Given the description of an element on the screen output the (x, y) to click on. 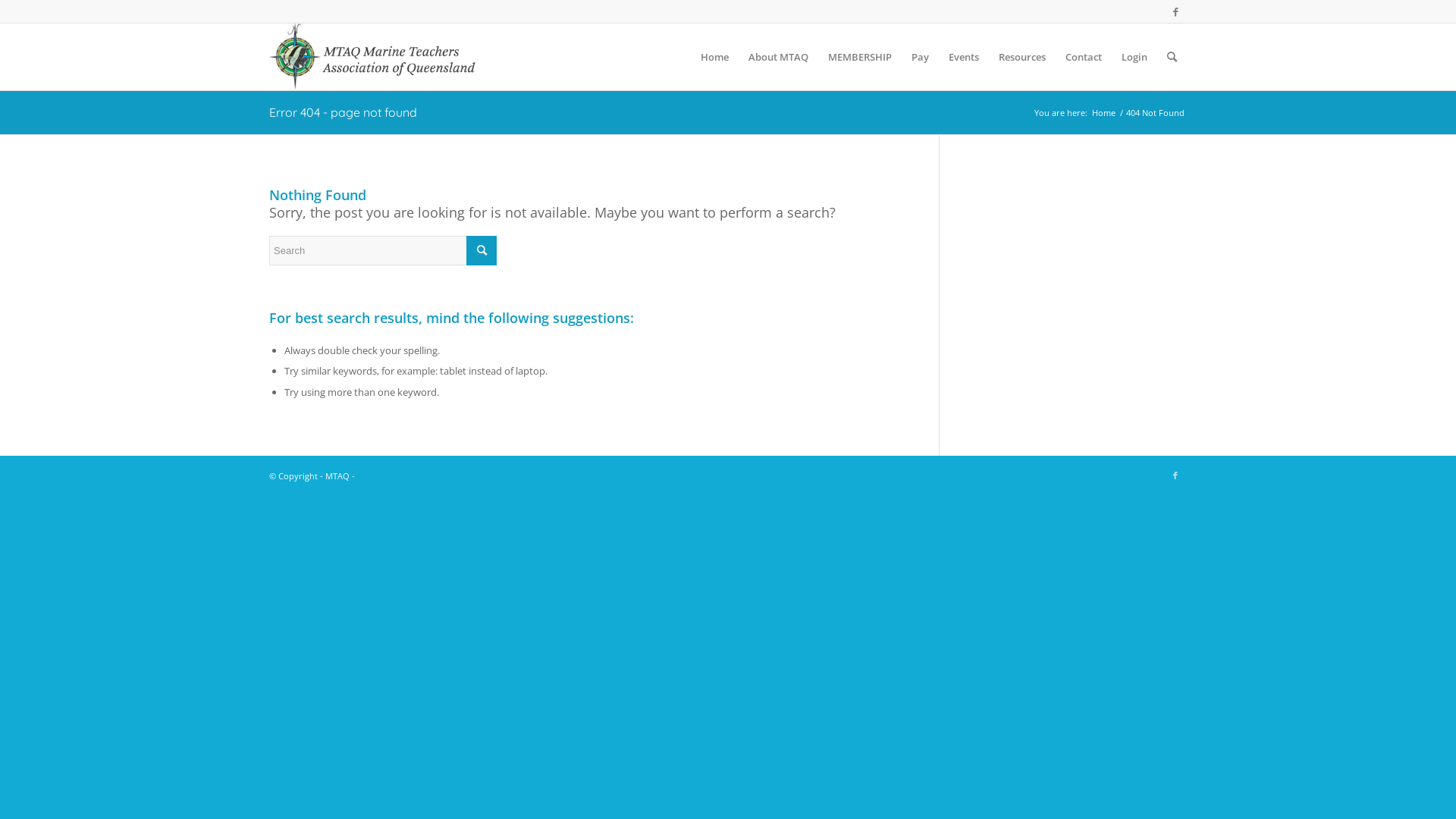
Home Element type: text (1103, 112)
MEMBERSHIP Element type: text (859, 56)
Resources Element type: text (1021, 56)
Login Element type: text (1134, 56)
Home Element type: text (714, 56)
Pay Element type: text (919, 56)
Facebook Element type: hover (1175, 475)
Facebook Element type: hover (1175, 11)
Events Element type: text (963, 56)
About MTAQ Element type: text (778, 56)
Contact Element type: text (1083, 56)
